Given the description of an element on the screen output the (x, y) to click on. 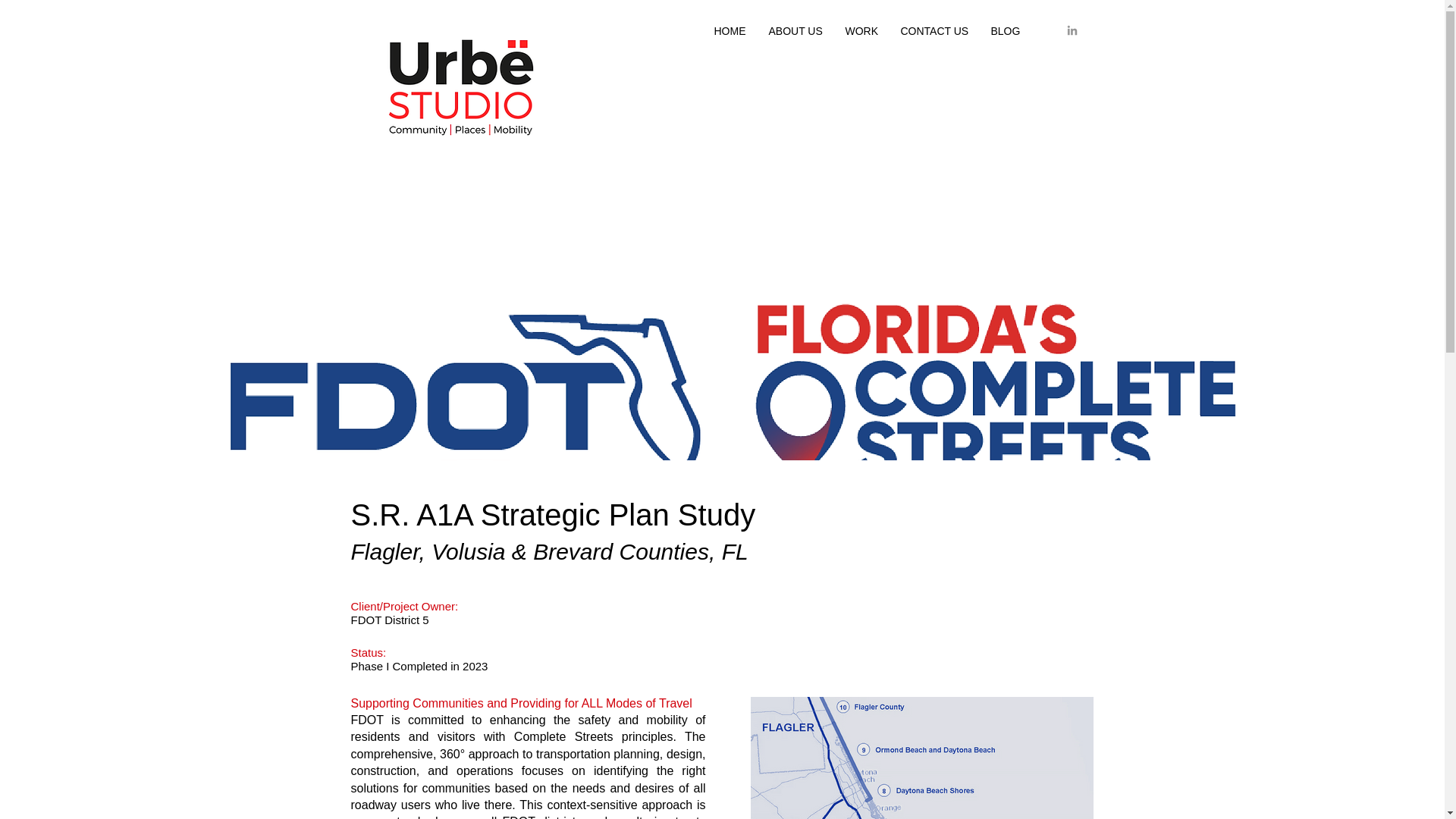
WORK (861, 30)
CONTACT US (933, 30)
ABOUT US (794, 30)
HOME (729, 30)
BLOG (1005, 30)
